Given the description of an element on the screen output the (x, y) to click on. 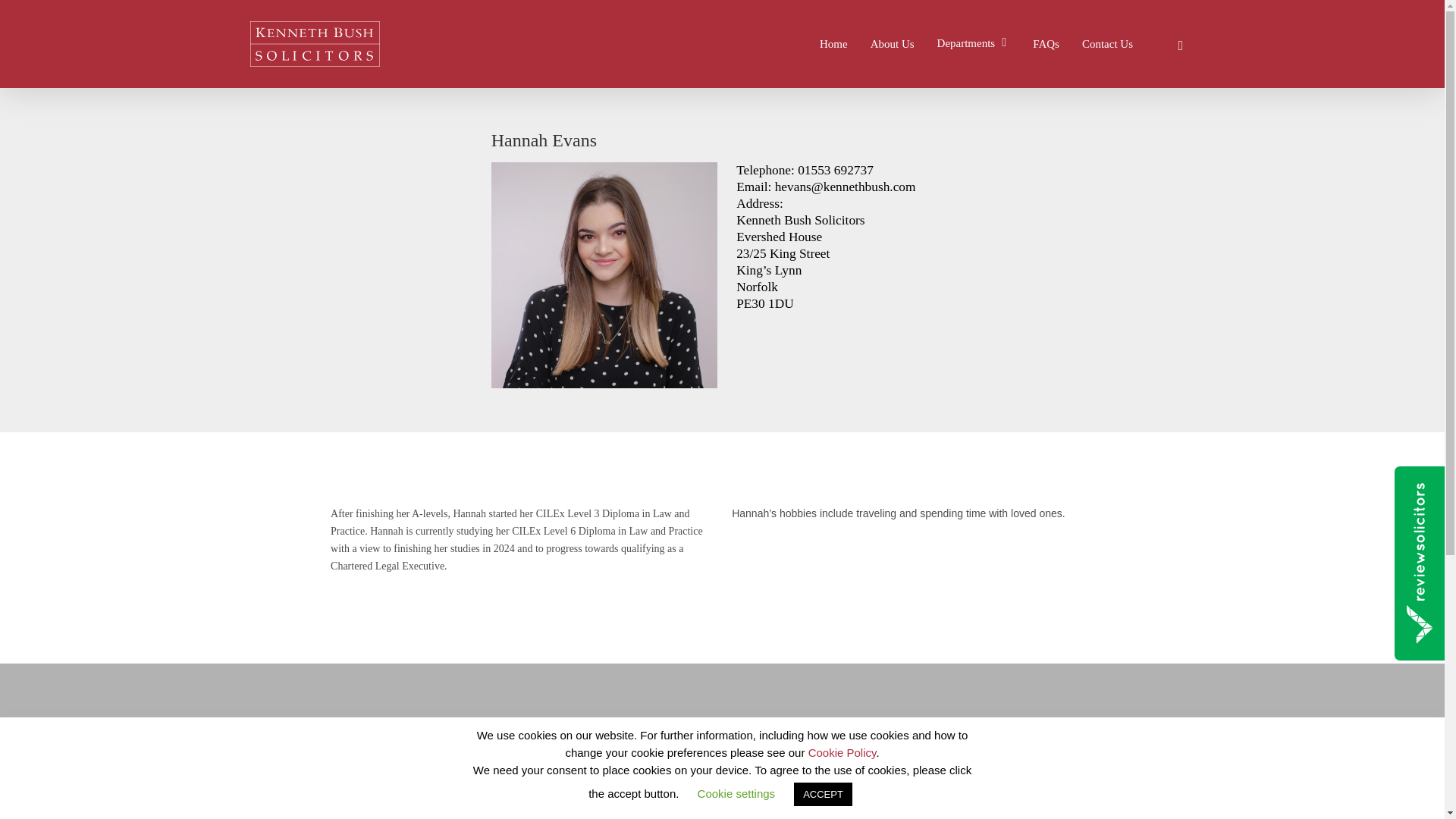
x-twitter (1180, 44)
Contact Us (69, 816)
About Us (65, 755)
Home (833, 43)
FAQs (1046, 43)
Contact Us (1107, 43)
Departments (974, 43)
FAQs (55, 788)
About Us (892, 43)
